Given the description of an element on the screen output the (x, y) to click on. 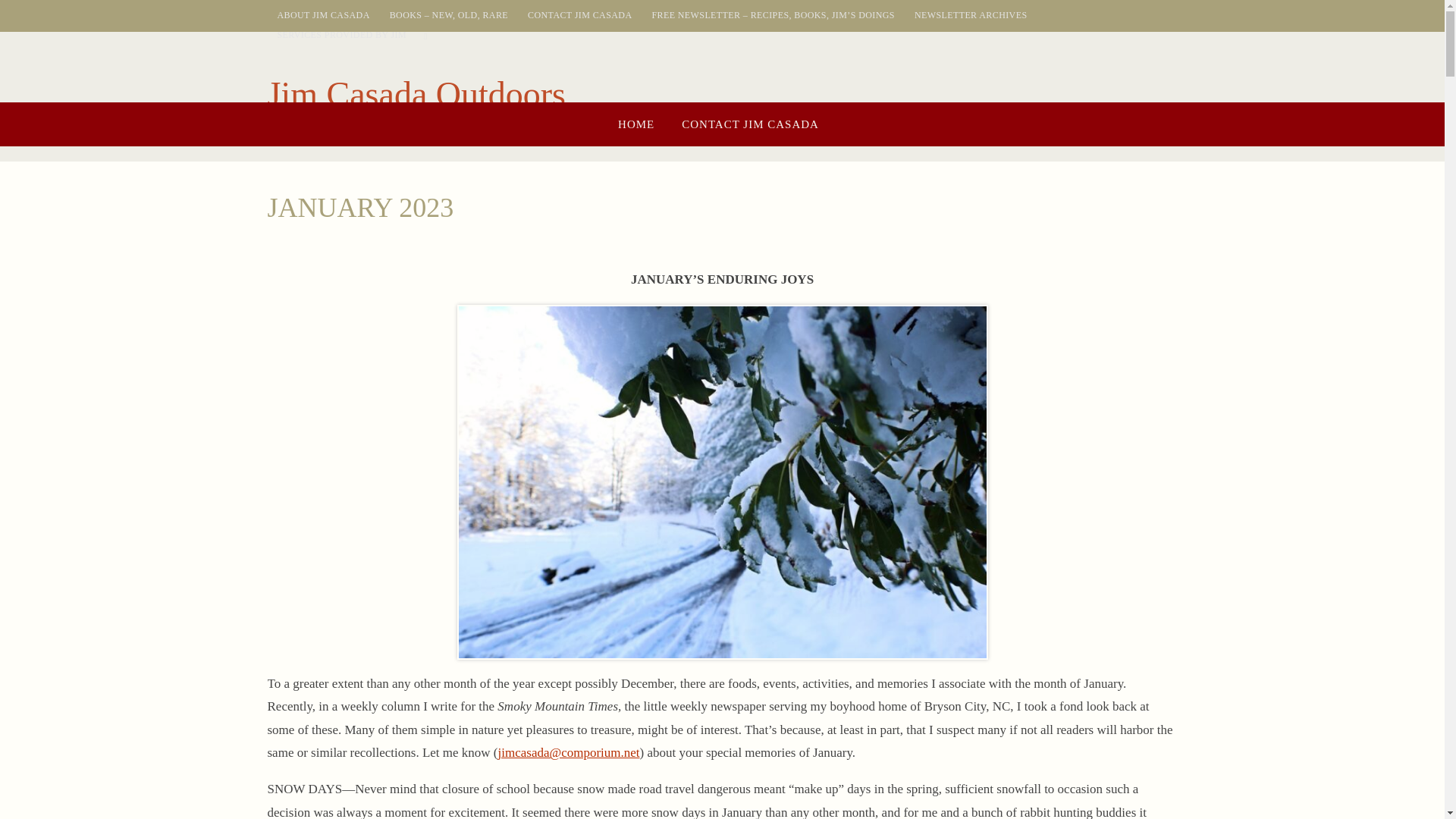
SERVICES PROVIDED BY JIM (341, 35)
ABOUT JIM CASADA (323, 14)
HOME (636, 124)
CONTACT JIM CASADA (750, 124)
NEWSLETTER ARCHIVES (971, 14)
CONTACT JIM CASADA (579, 14)
Jim Casada Outdoors (416, 94)
Jim Casada Outdoors (416, 94)
